Given the description of an element on the screen output the (x, y) to click on. 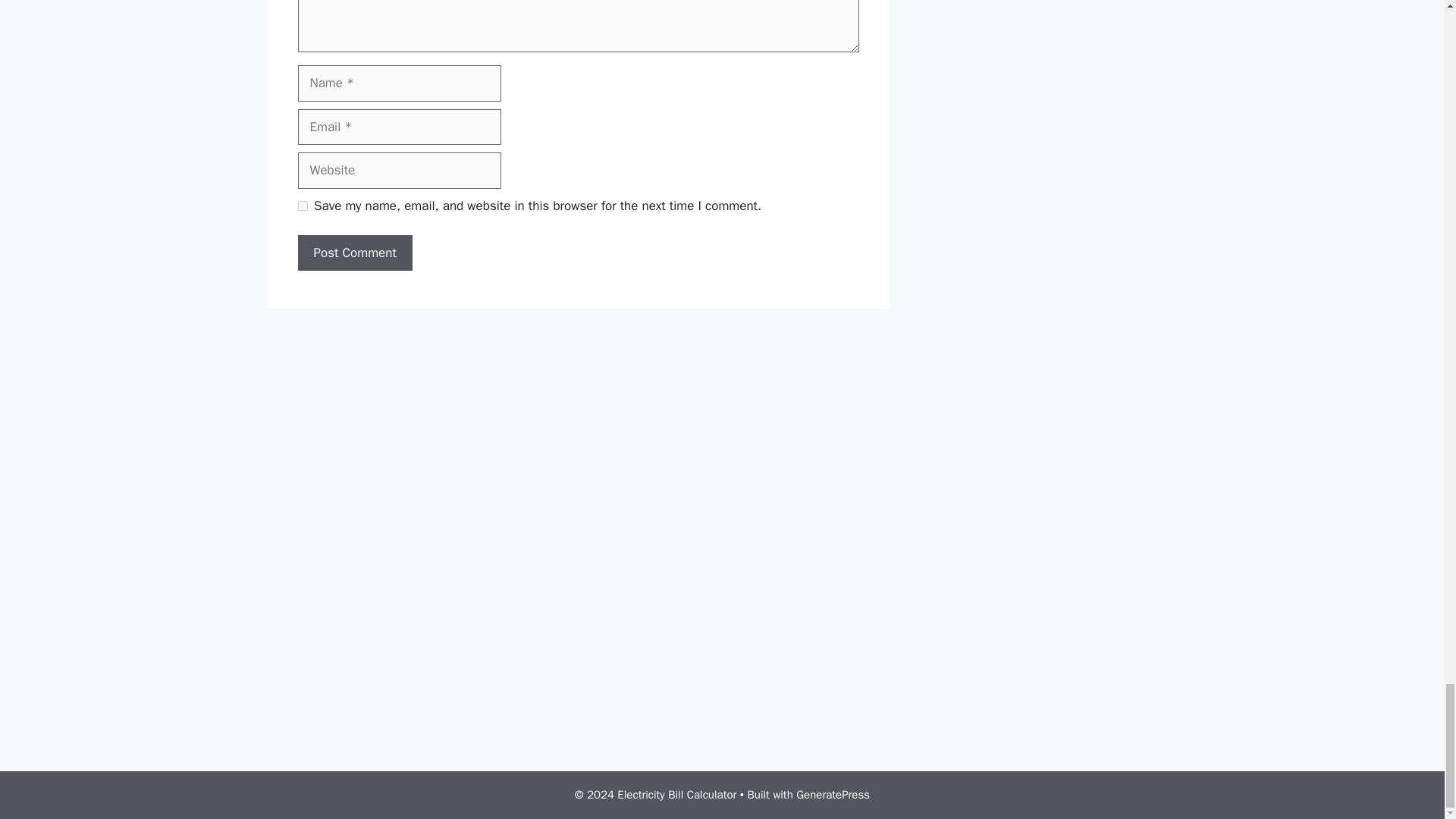
Post Comment (354, 253)
Post Comment (354, 253)
GeneratePress (832, 794)
yes (302, 205)
